Given the description of an element on the screen output the (x, y) to click on. 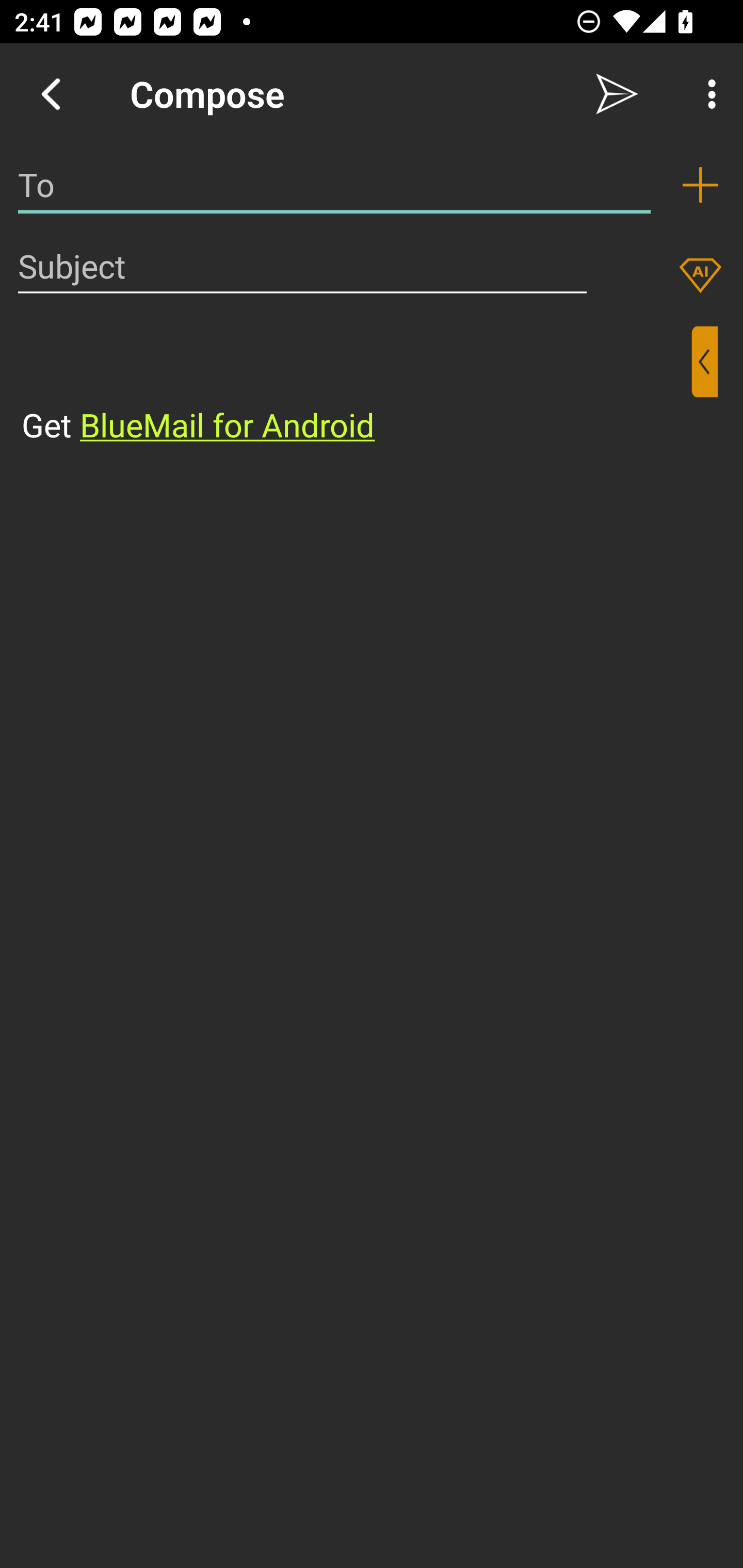
Navigate up (50, 93)
Send (616, 93)
More Options (706, 93)
To (334, 184)
Add recipient (To) (699, 184)
Subject (302, 266)


⁣Get BlueMail for Android ​ (355, 386)
